Given the description of an element on the screen output the (x, y) to click on. 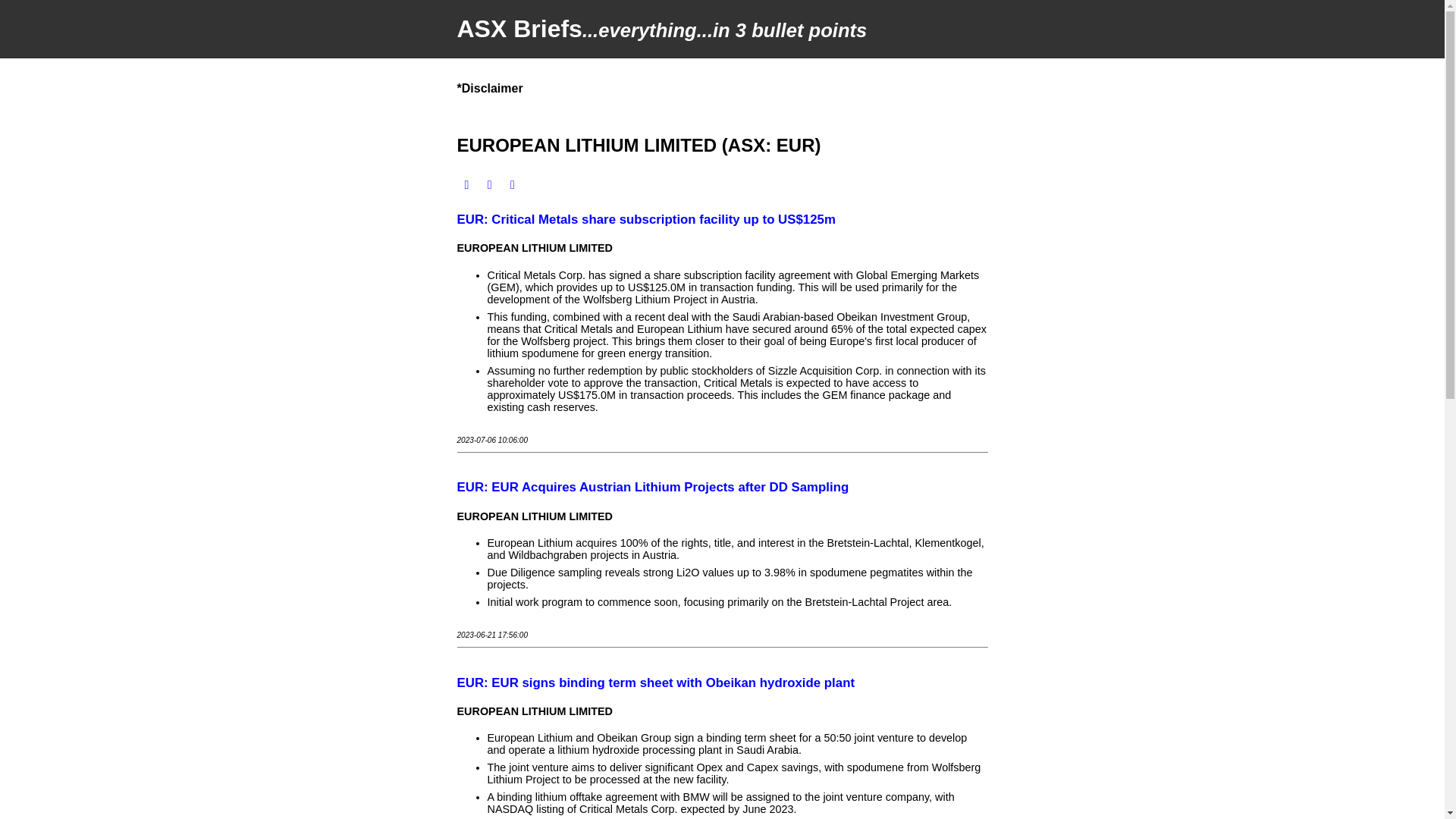
EUR history on ASX Briefs (466, 184)
ASX Briefs...everything...in 3 bullet points (722, 29)
EUR on Yahoo Finance (512, 184)
EUR announcements on ASX (489, 184)
